Given the description of an element on the screen output the (x, y) to click on. 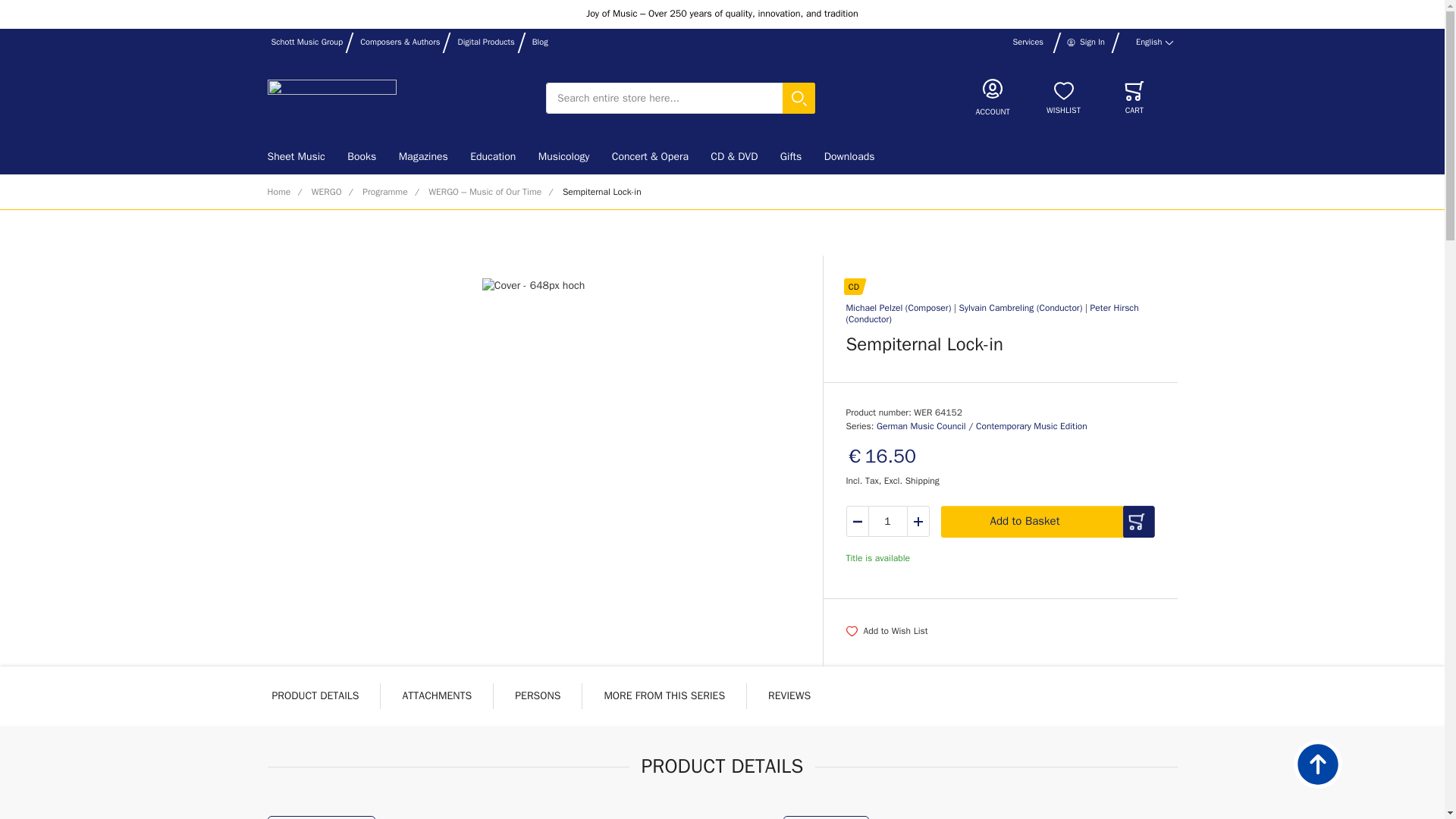
Blog (540, 42)
Sign In (1085, 42)
Go to Home Page (277, 192)
Sheet Music (301, 157)
Search (802, 97)
Digital Products (485, 42)
Schott Music Group (306, 42)
ACCOUNT (992, 98)
CART (1134, 98)
1 (888, 521)
